Given the description of an element on the screen output the (x, y) to click on. 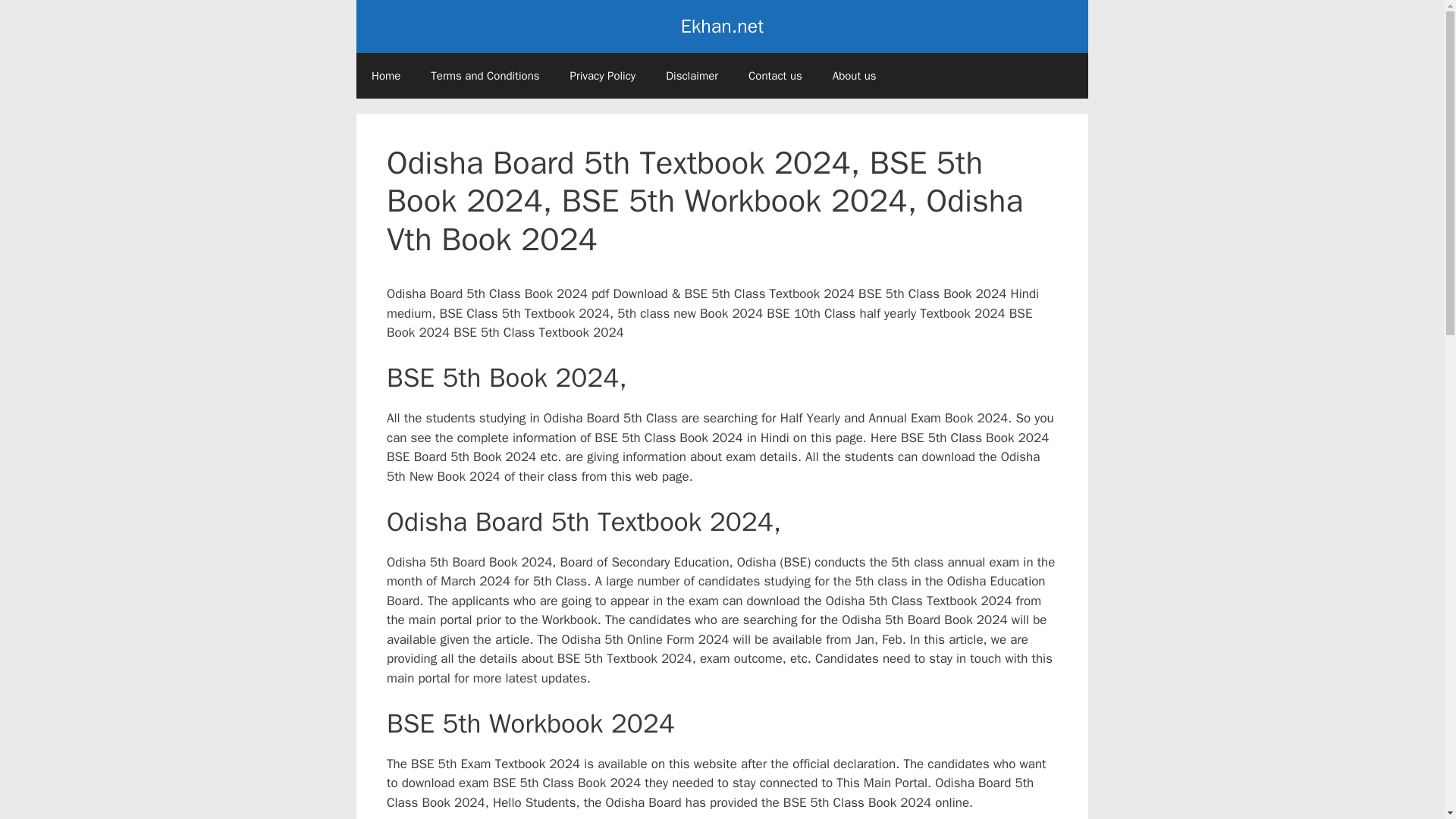
Terms and Conditions (484, 75)
Privacy Policy (602, 75)
Home (385, 75)
Disclaimer (691, 75)
About us (853, 75)
Ekhan.net (721, 25)
Contact us (774, 75)
